Given the description of an element on the screen output the (x, y) to click on. 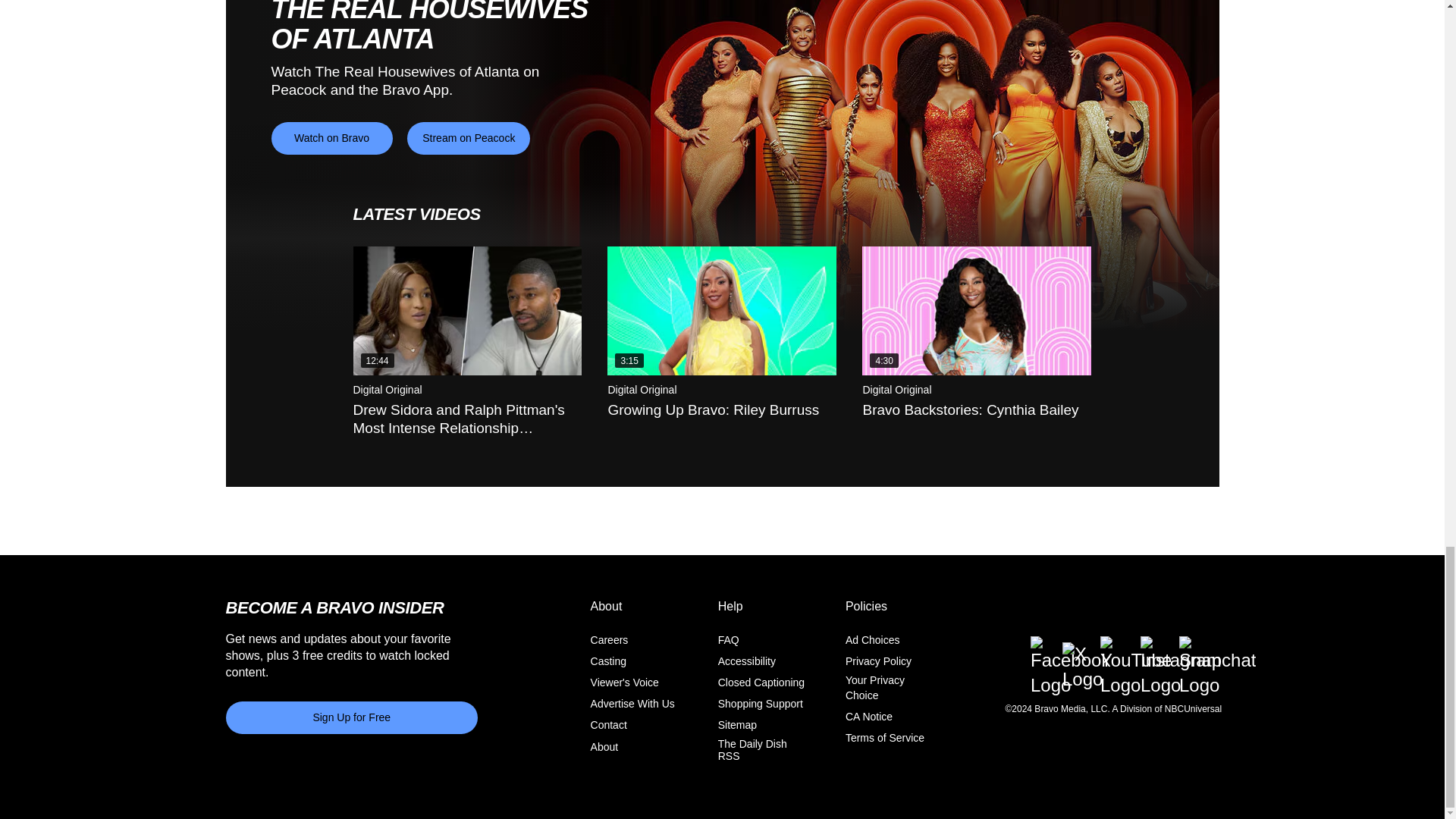
Bravo Backstories: Cynthia Bailey (975, 310)
Growing Up Bravo: Riley Burruss (721, 310)
Advertise With Us (633, 704)
